Given the description of an element on the screen output the (x, y) to click on. 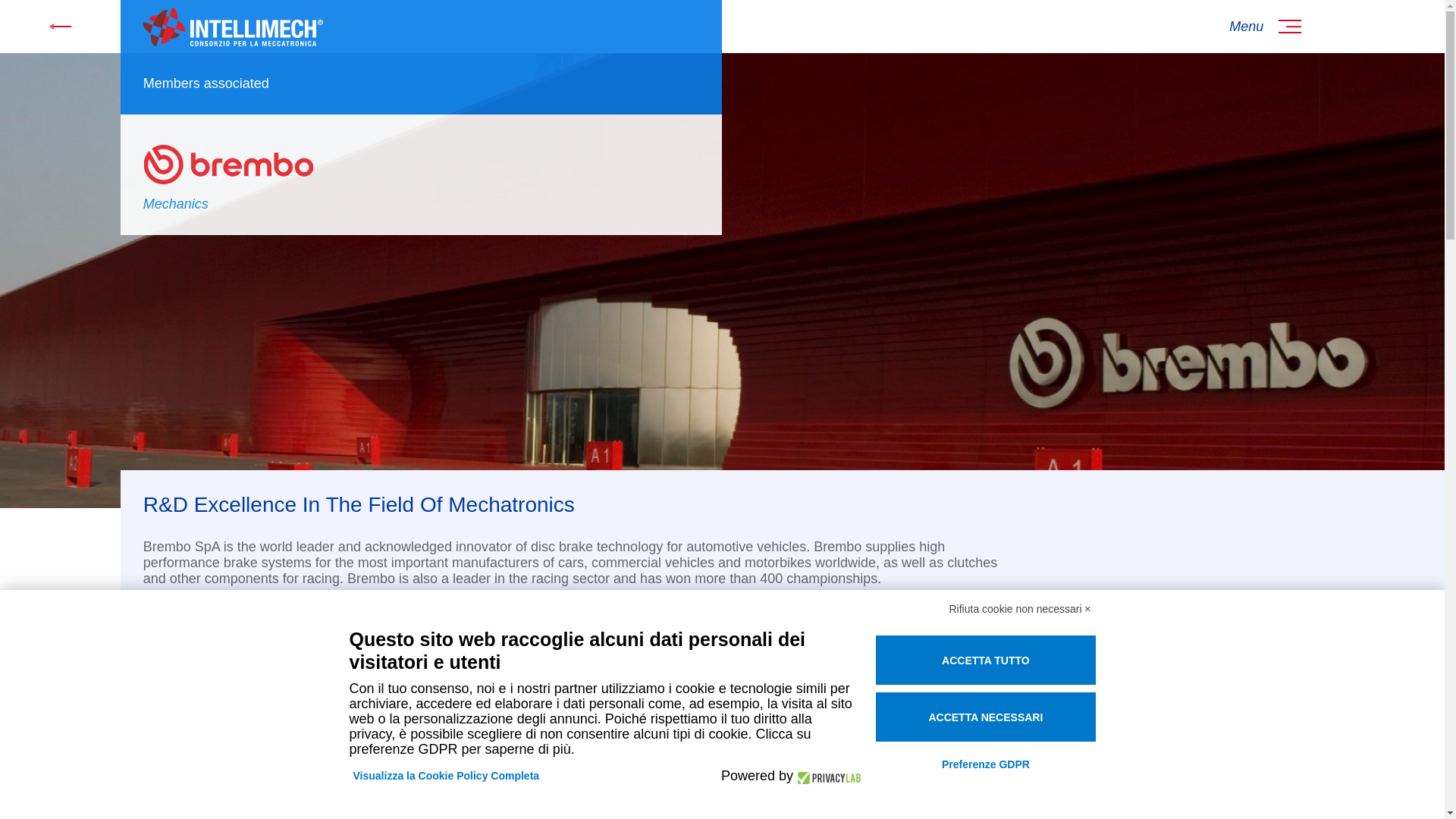
Enter (159, 636)
Logo Created with Sketch. (232, 26)
PrivacyLab (826, 775)
Group 8 Created with Sketch. (60, 26)
Hamburger Created with Sketch. (1289, 26)
Menu Hamburger Created with Sketch. (1264, 26)
Group 8 Created with Sketch. (60, 26)
